Given the description of an element on the screen output the (x, y) to click on. 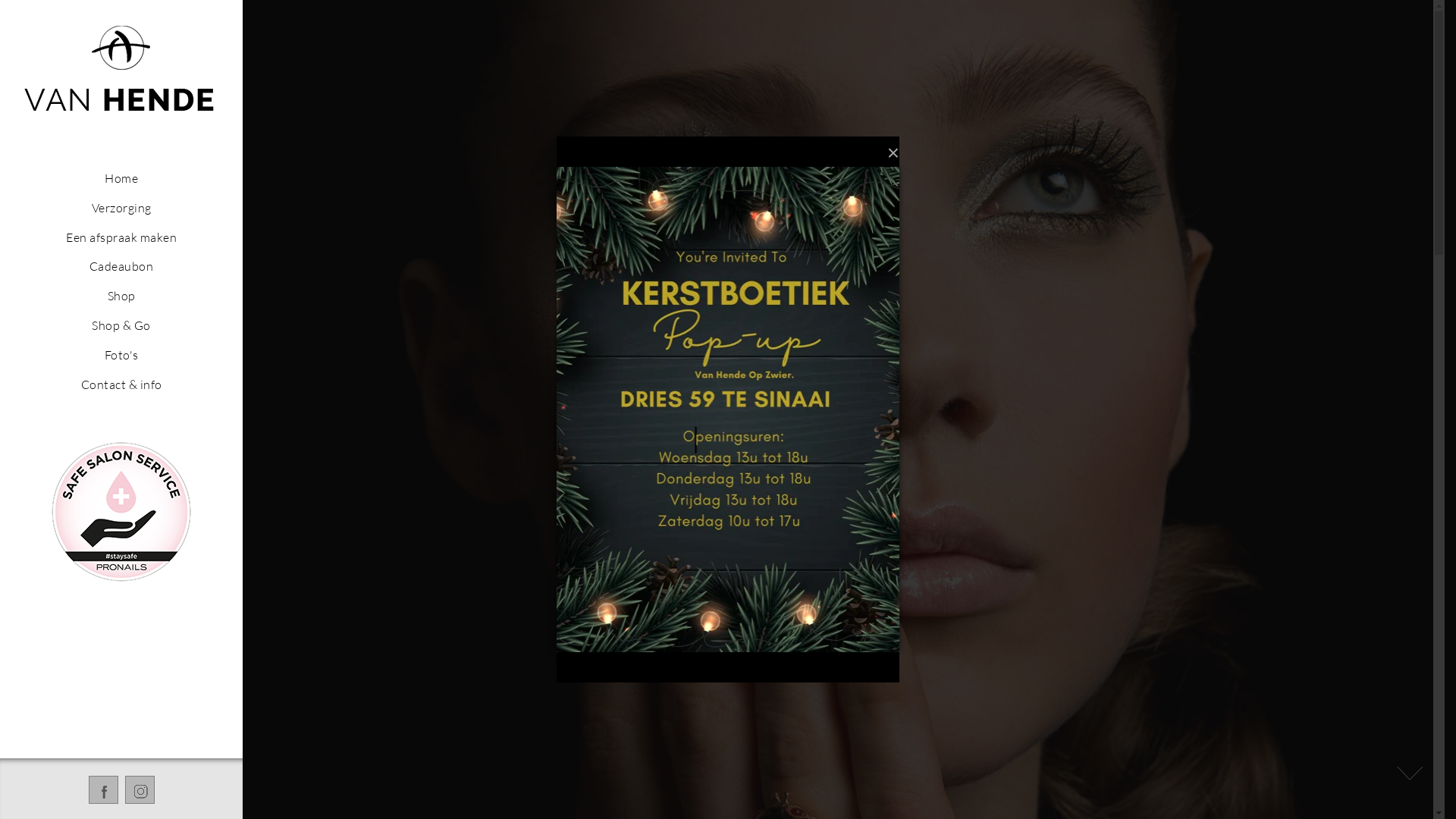
Home Element type: text (121, 177)
Cadeaubon Element type: text (121, 265)
Een afspraak maken Element type: text (120, 236)
Instagram Element type: hover (138, 789)
Contact & info Element type: text (120, 384)
Shop & Go Element type: text (120, 324)
Shop Element type: text (121, 295)
Foto's Element type: text (121, 354)
Verzorging Element type: text (120, 207)
Facebook Element type: hover (102, 789)
